Given the description of an element on the screen output the (x, y) to click on. 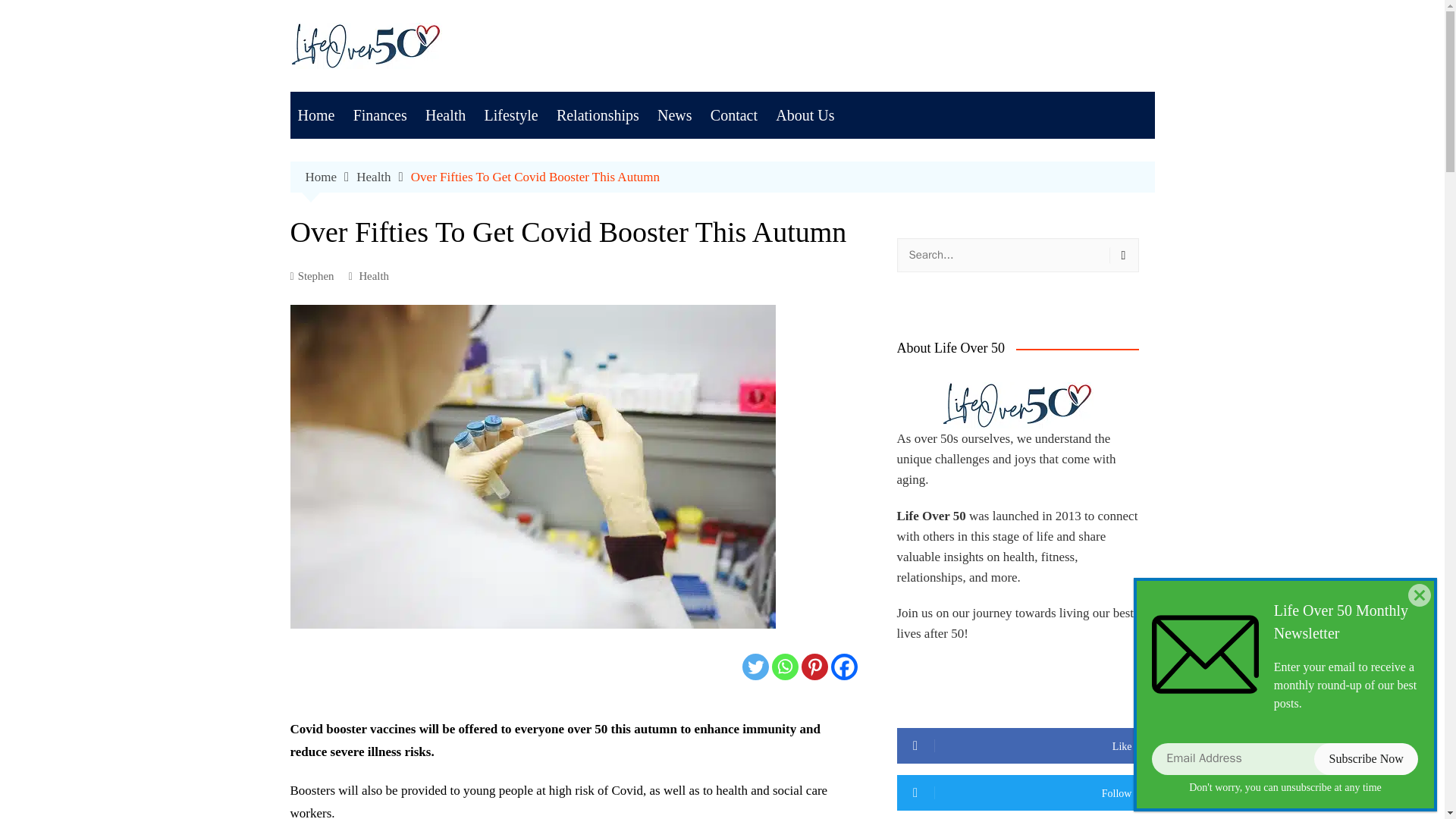
Health (383, 177)
Lifestyle (511, 114)
close (1419, 595)
Whatsapp (784, 666)
Twitter (754, 666)
Home (315, 114)
Health (373, 276)
Home (330, 177)
Facebook (844, 666)
Stephen (311, 276)
Contact (734, 114)
News (674, 114)
About Us (804, 114)
Pinterest (813, 666)
Relationships (597, 114)
